Given the description of an element on the screen output the (x, y) to click on. 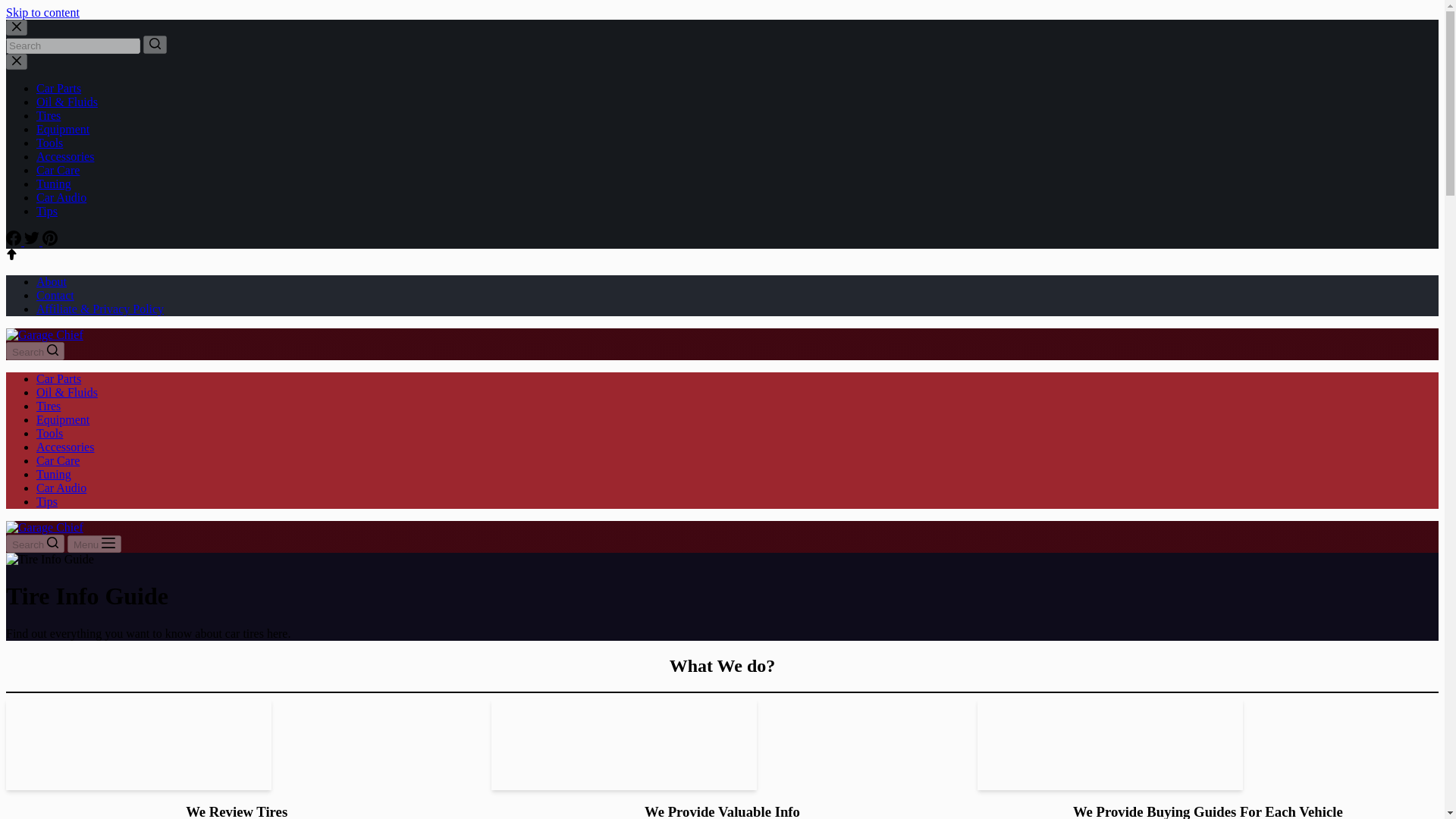
Tire Info Guide 14 (624, 744)
Tips (47, 501)
Equipment (62, 128)
Accessories (65, 446)
Tips (47, 210)
Car Audio (60, 487)
Tire Info Guide 13 (137, 744)
Search Input (72, 45)
About (51, 281)
Equipment (62, 419)
